Given the description of an element on the screen output the (x, y) to click on. 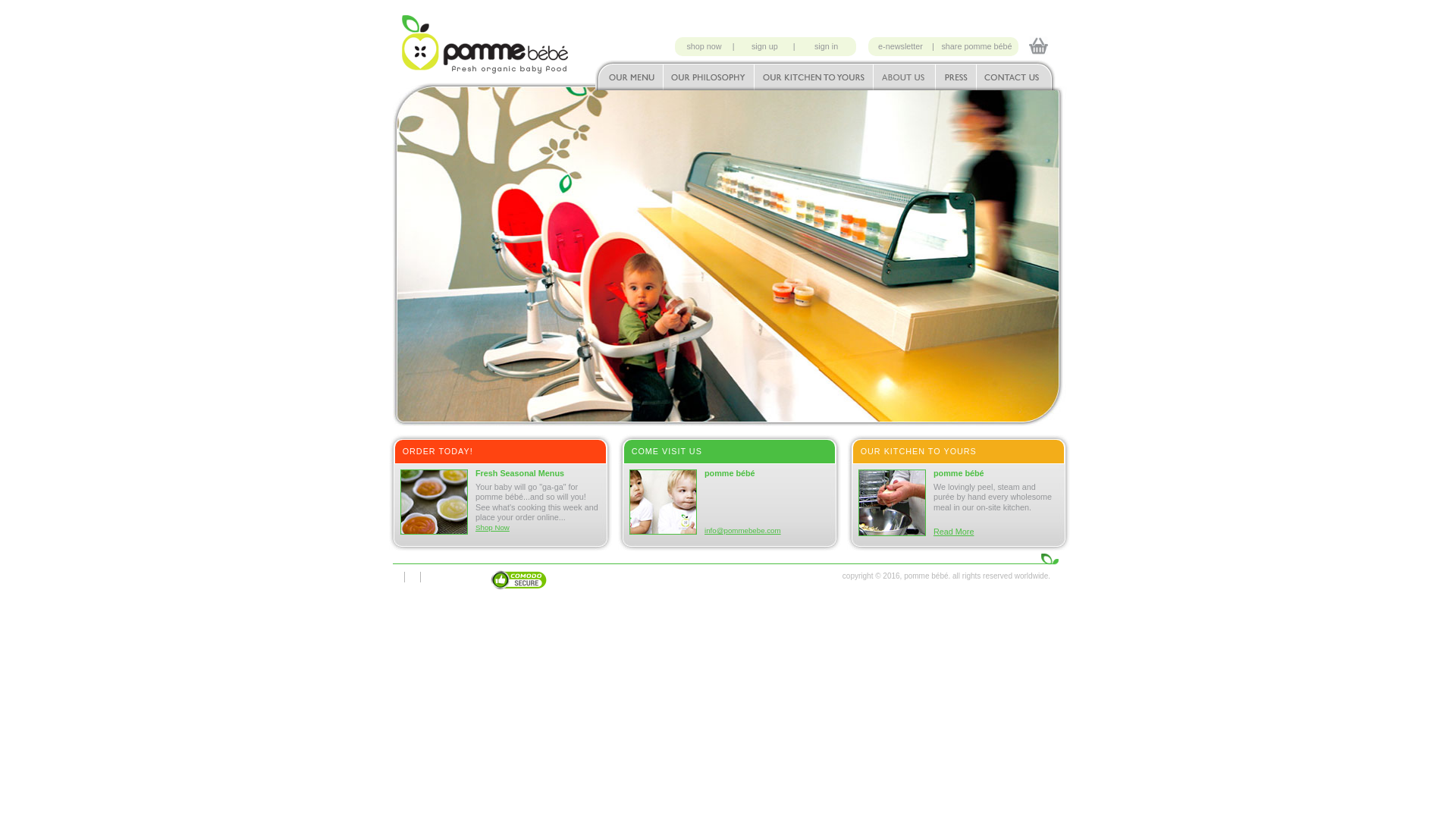
About Us (904, 74)
shop now (705, 46)
Our Philosophy (708, 74)
sign up (765, 46)
Our Kitchen to yours (813, 74)
e-newsletter (900, 46)
sign in (826, 46)
Press (956, 74)
Contact Us (1020, 74)
Shop Now (492, 527)
Our Menu (629, 74)
